Given the description of an element on the screen output the (x, y) to click on. 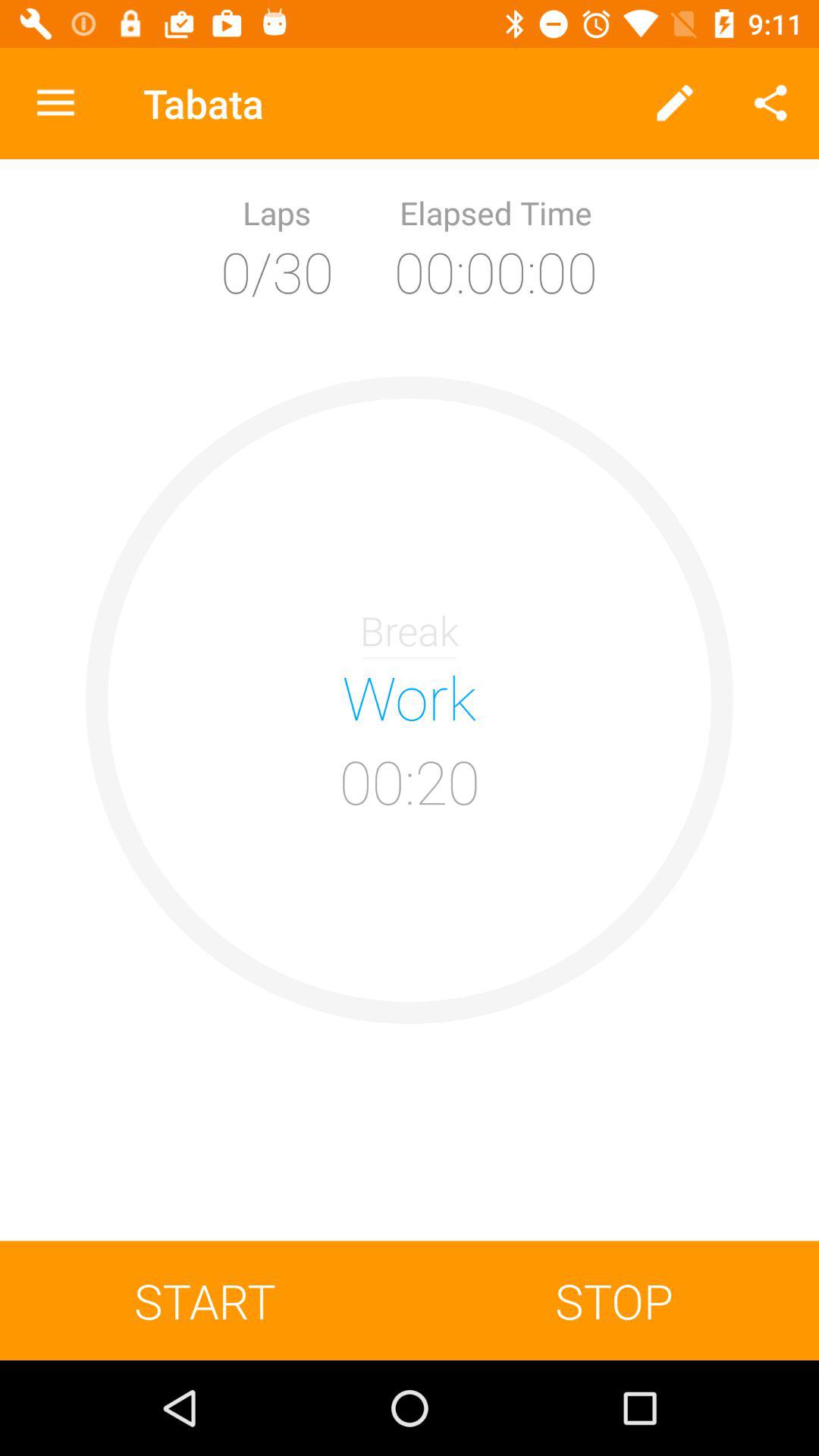
tap the icon at the bottom left corner (204, 1300)
